Given the description of an element on the screen output the (x, y) to click on. 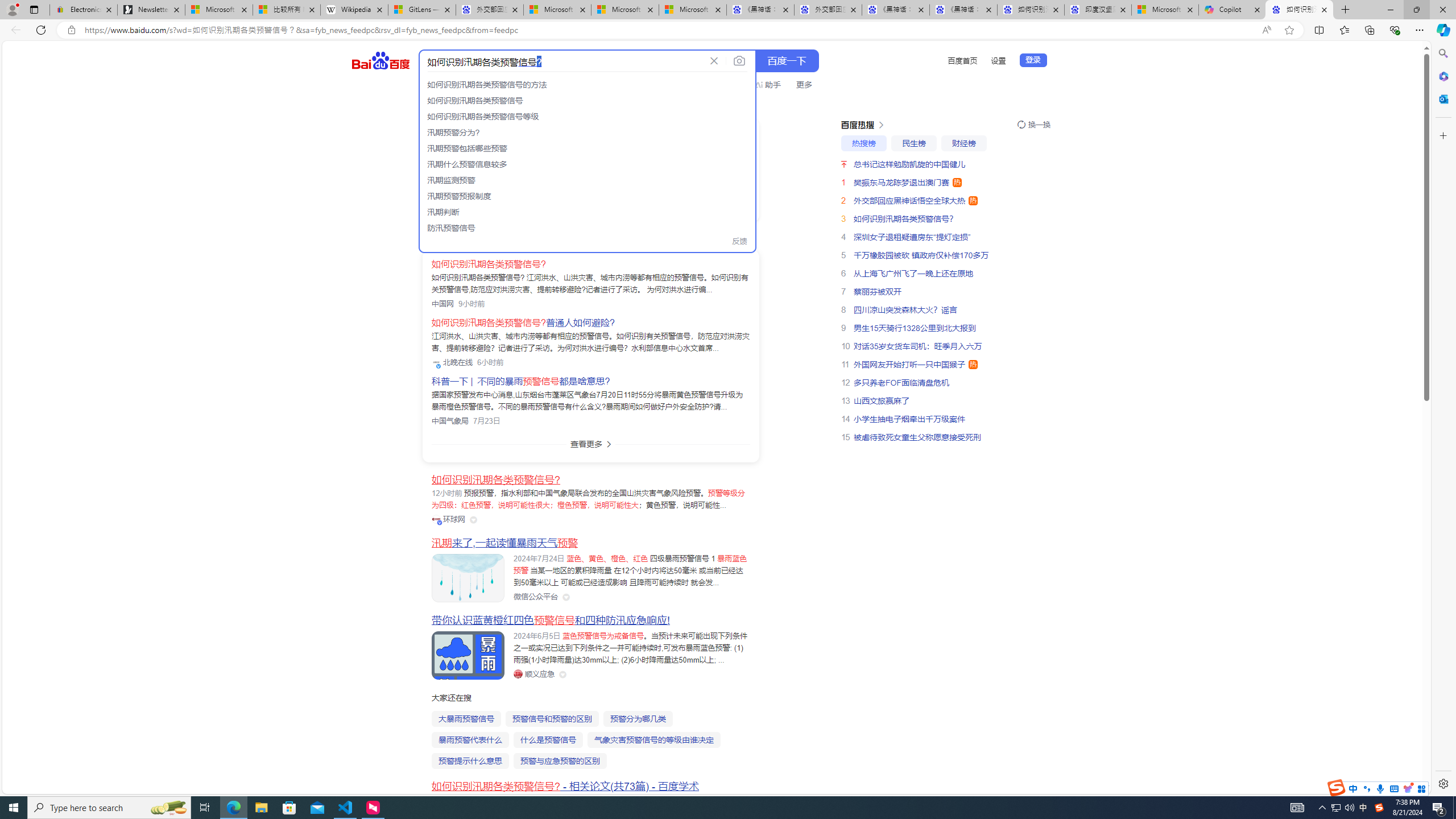
Class: vip-icon_kNmNt (439, 522)
Newsletter Sign Up (150, 9)
